Given the description of an element on the screen output the (x, y) to click on. 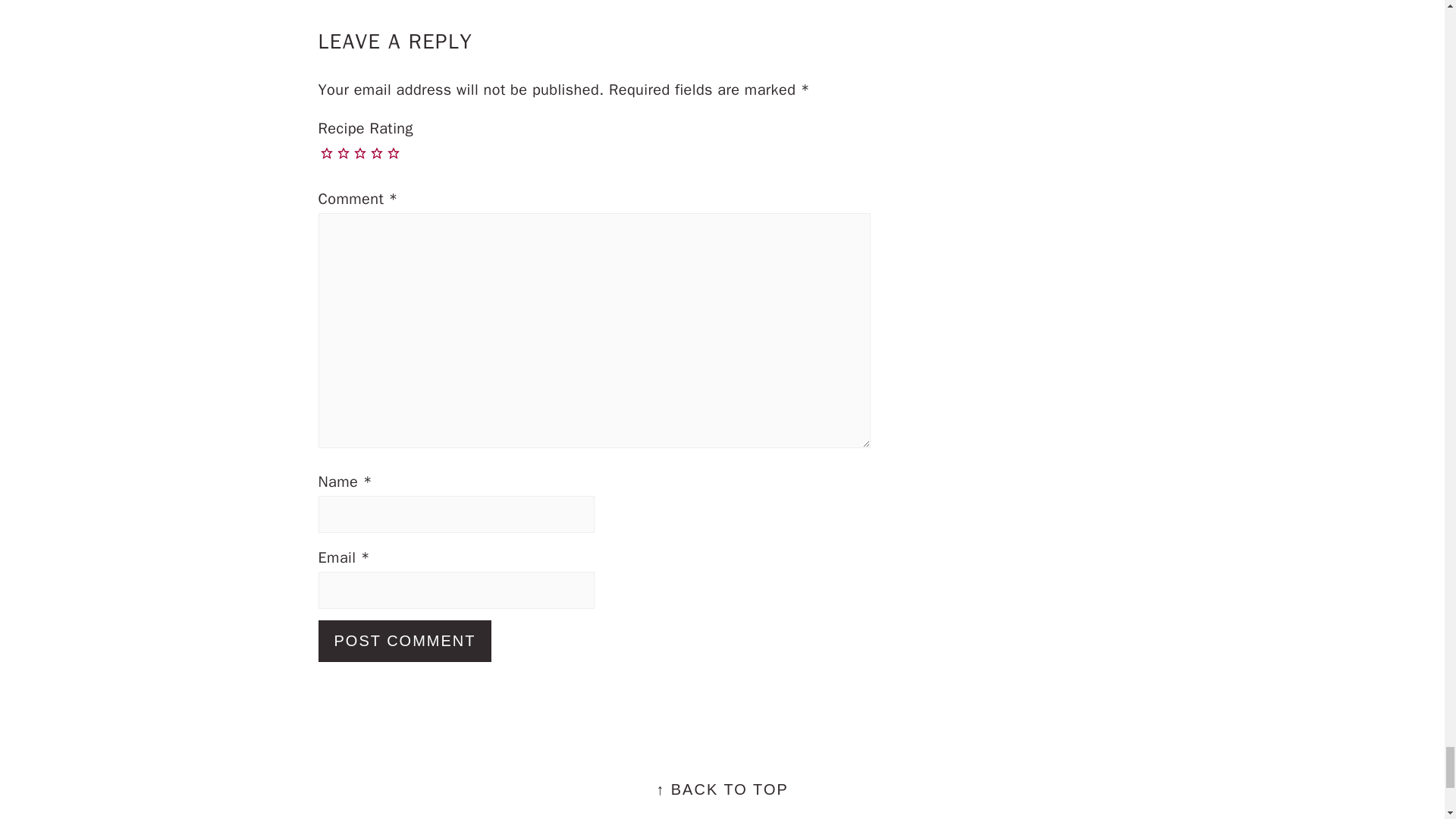
Post Comment (405, 640)
